Given the description of an element on the screen output the (x, y) to click on. 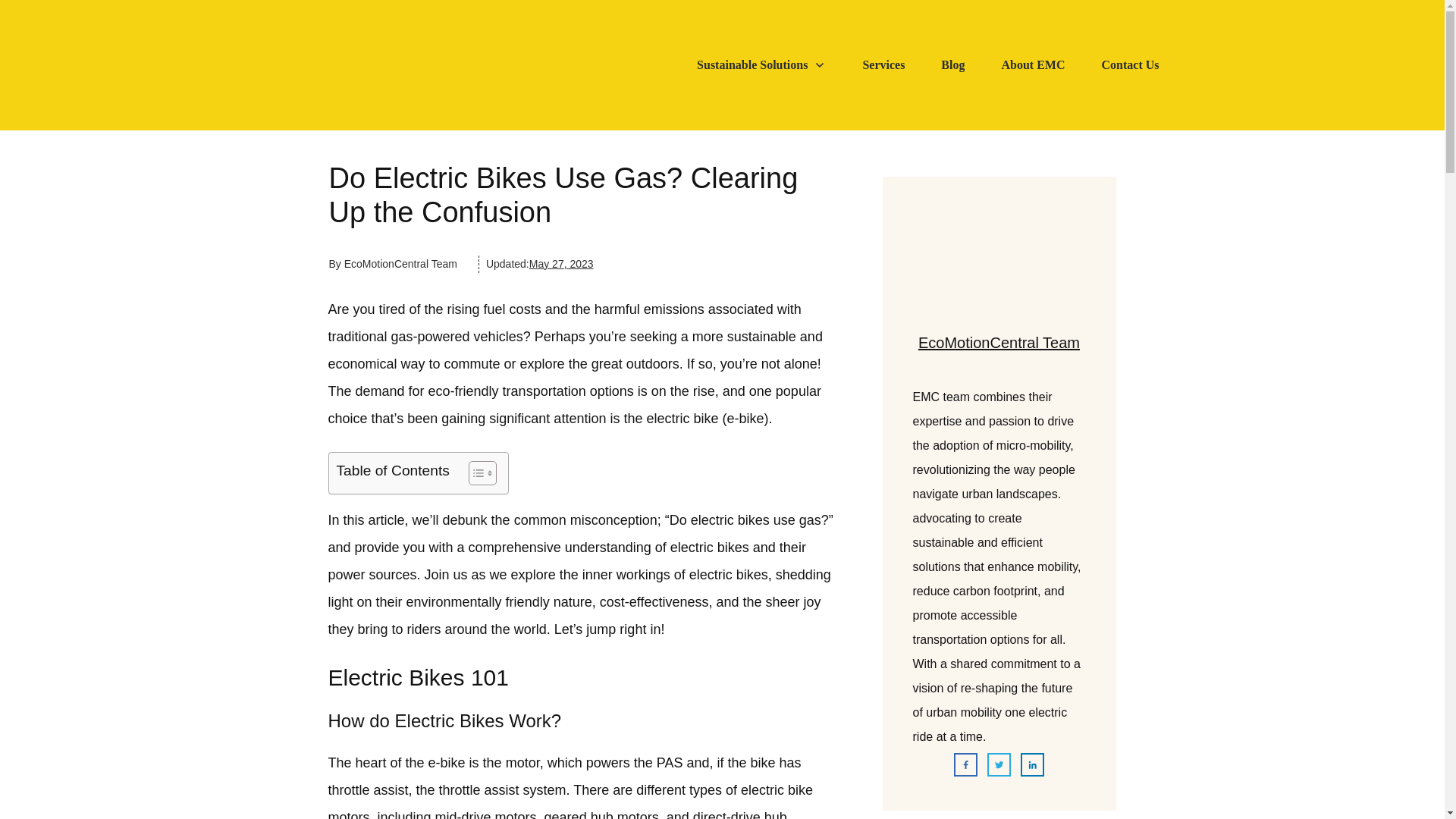
Do Electric Bikes Use Gas? Clearing Up the Confusion (563, 195)
EcoMotionCentral Team (999, 342)
Sustainable Solutions (761, 64)
Do Electric Bikes Use Gas? Clearing Up the Confusion (563, 195)
Services (882, 64)
Blog (951, 64)
Contact Us (1129, 64)
About EMC (1032, 64)
